Given the description of an element on the screen output the (x, y) to click on. 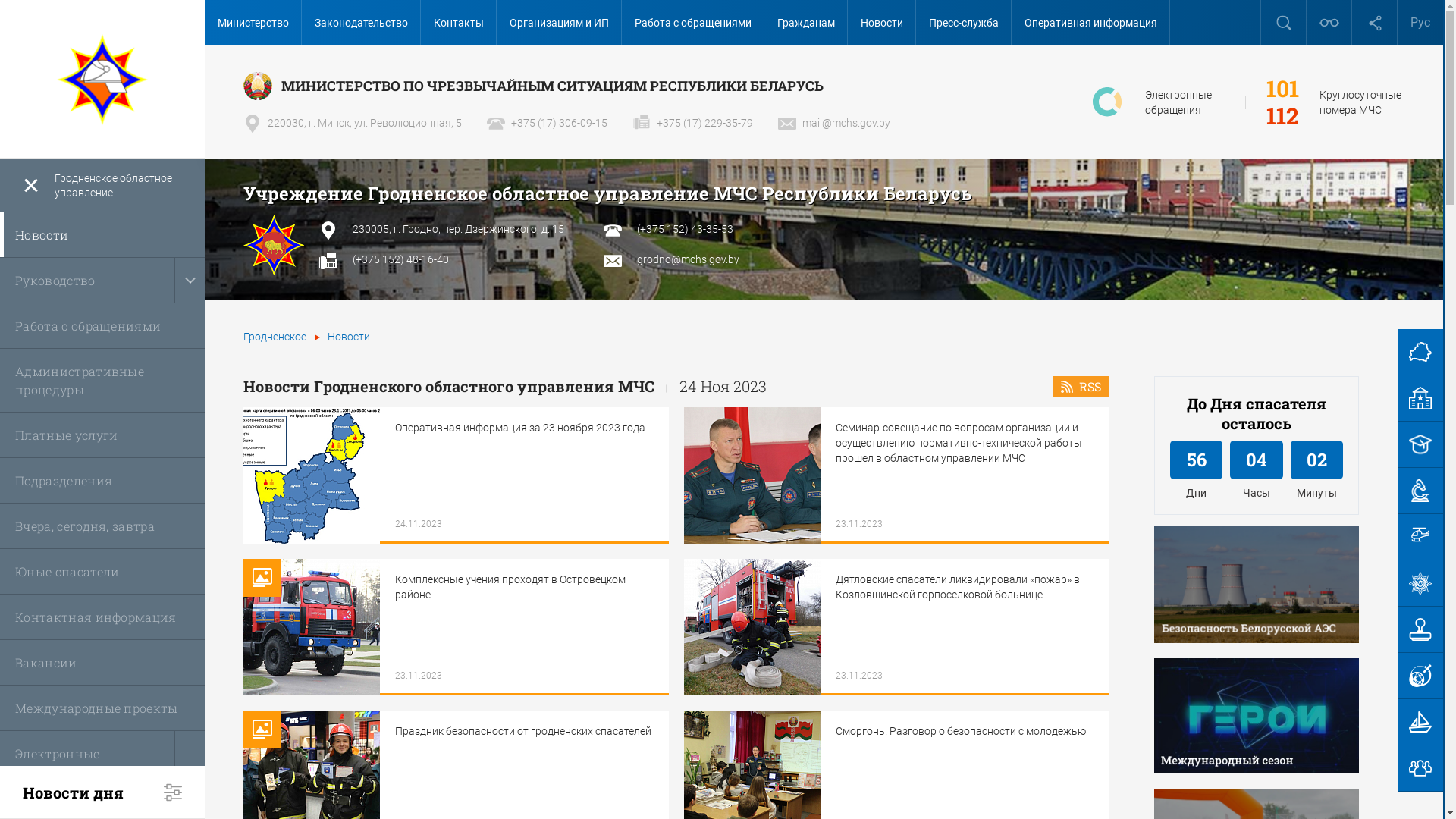
mail@mchs.gov.by Element type: text (834, 122)
112 Element type: text (1282, 115)
RSS Element type: text (1080, 386)
101 Element type: text (1282, 88)
+375 (17) 306-09-15 Element type: text (546, 122)
+375 (17) 229-35-79 Element type: text (692, 122)
grodno@mchs.gov.by Element type: text (688, 259)
(+375 152) 48-16-40 Element type: text (400, 259)
(+375 152) 43-35-53 Element type: text (685, 228)
